Given the description of an element on the screen output the (x, y) to click on. 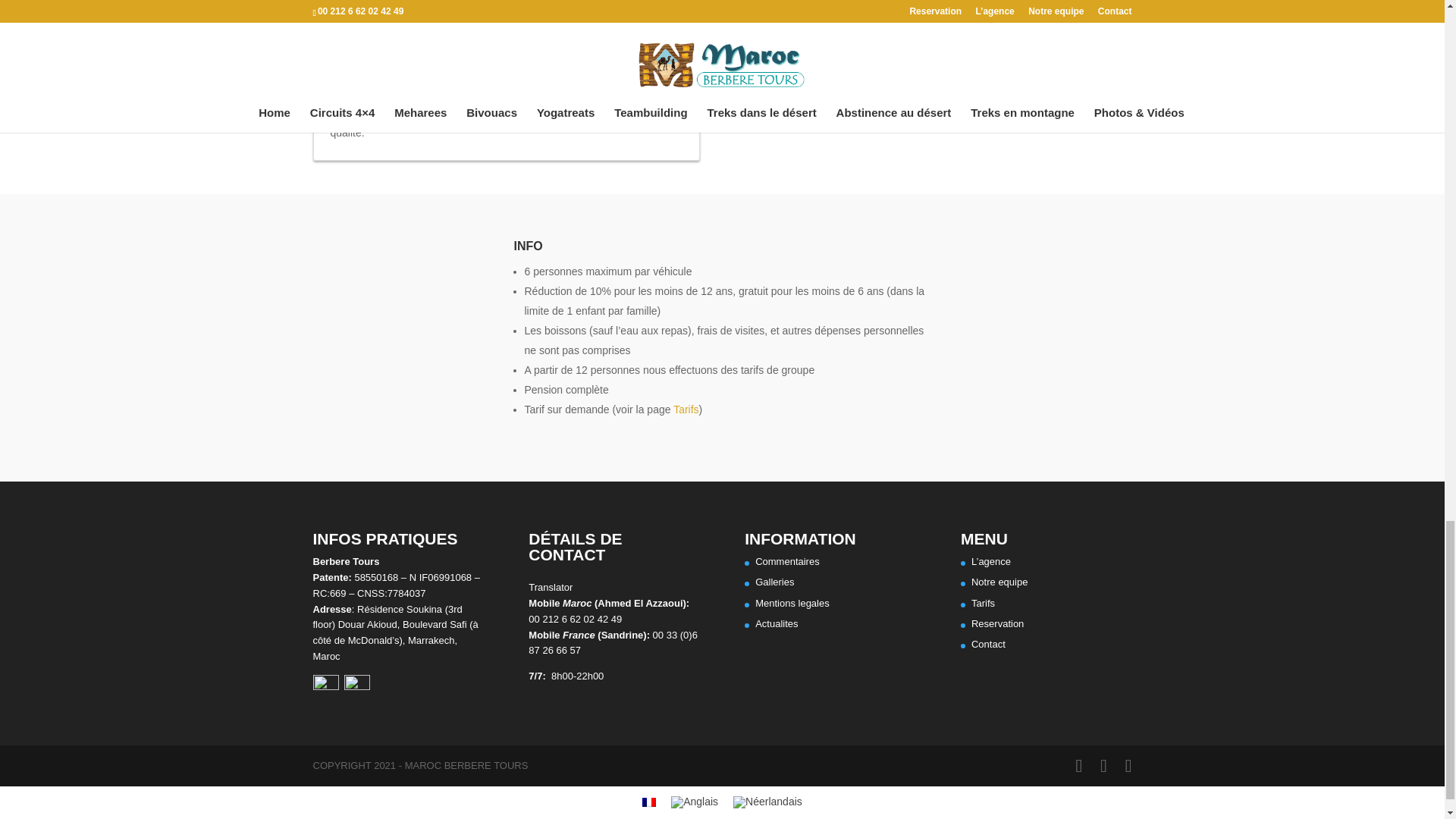
Mentions legales (792, 603)
Actualites (776, 623)
Galleries (774, 582)
Reservation (997, 623)
Tarifs (982, 603)
Tarifs (685, 409)
Commentaires (787, 561)
Notre equipe (999, 582)
